Given the description of an element on the screen output the (x, y) to click on. 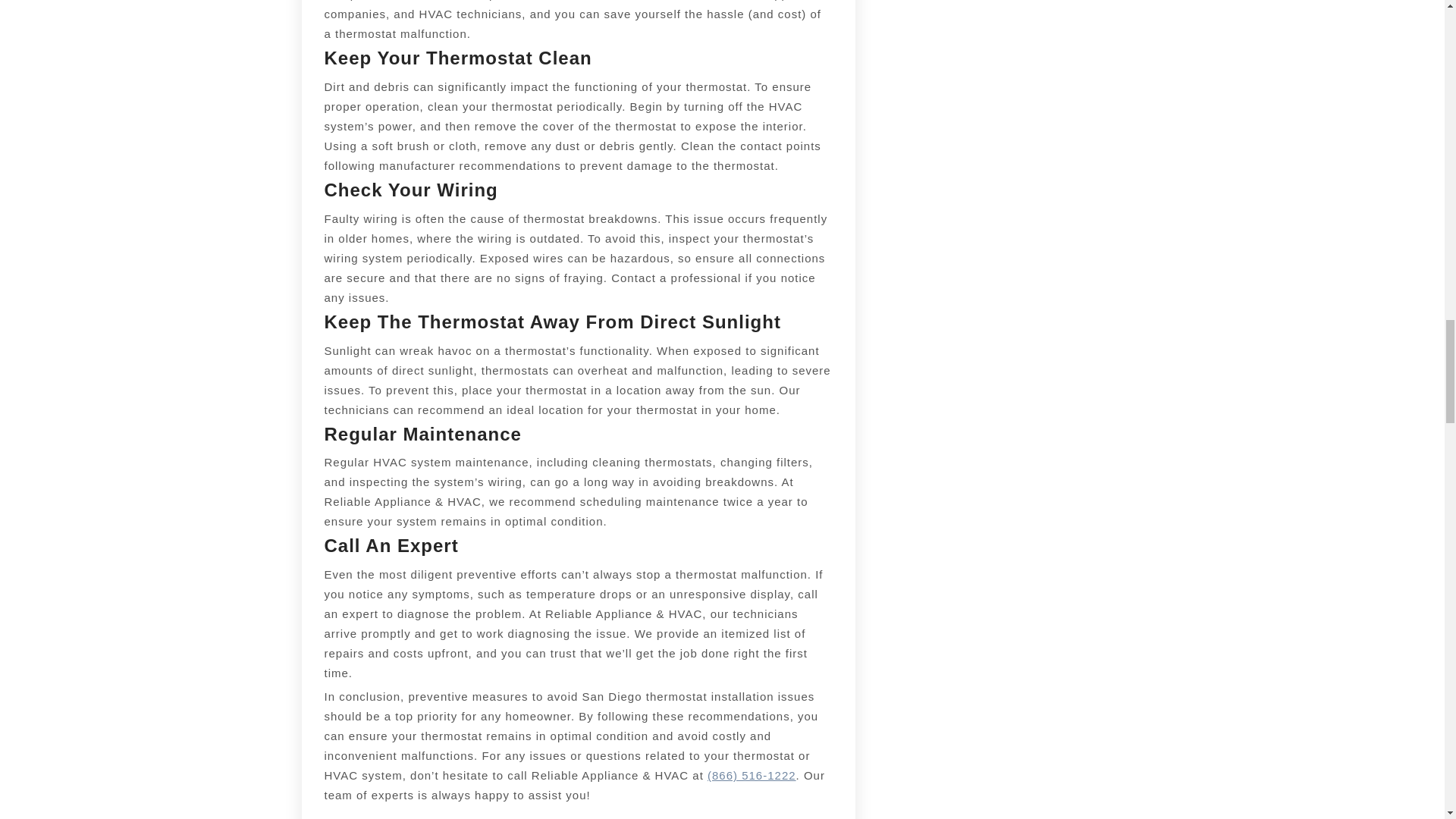
Thermostat Installation in San Diego (751, 775)
